Given the description of an element on the screen output the (x, y) to click on. 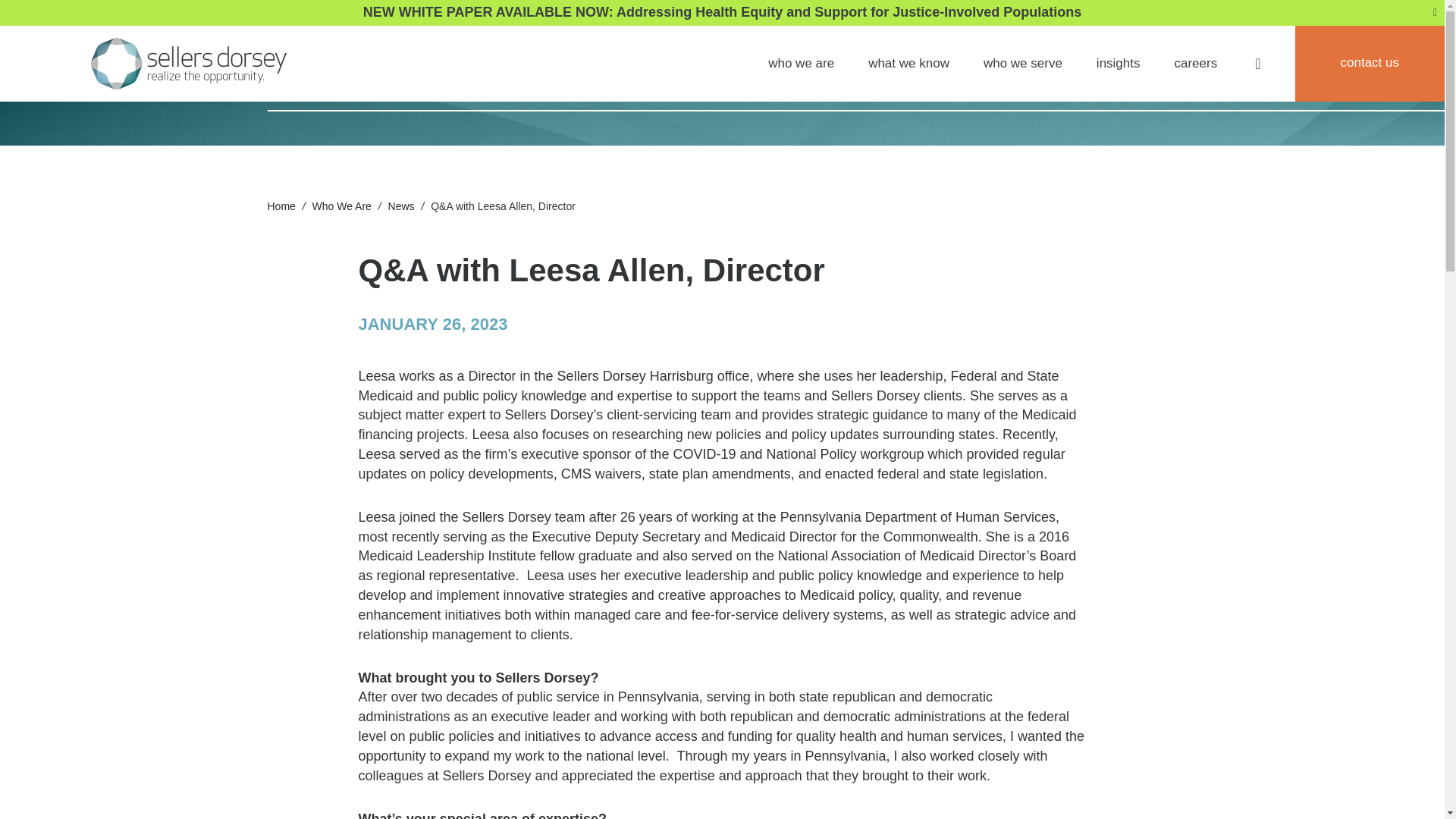
Who We Are (342, 205)
Sellers Dorsey (188, 63)
what we know (908, 63)
News (401, 205)
Home (280, 205)
who we serve (1023, 63)
